Given the description of an element on the screen output the (x, y) to click on. 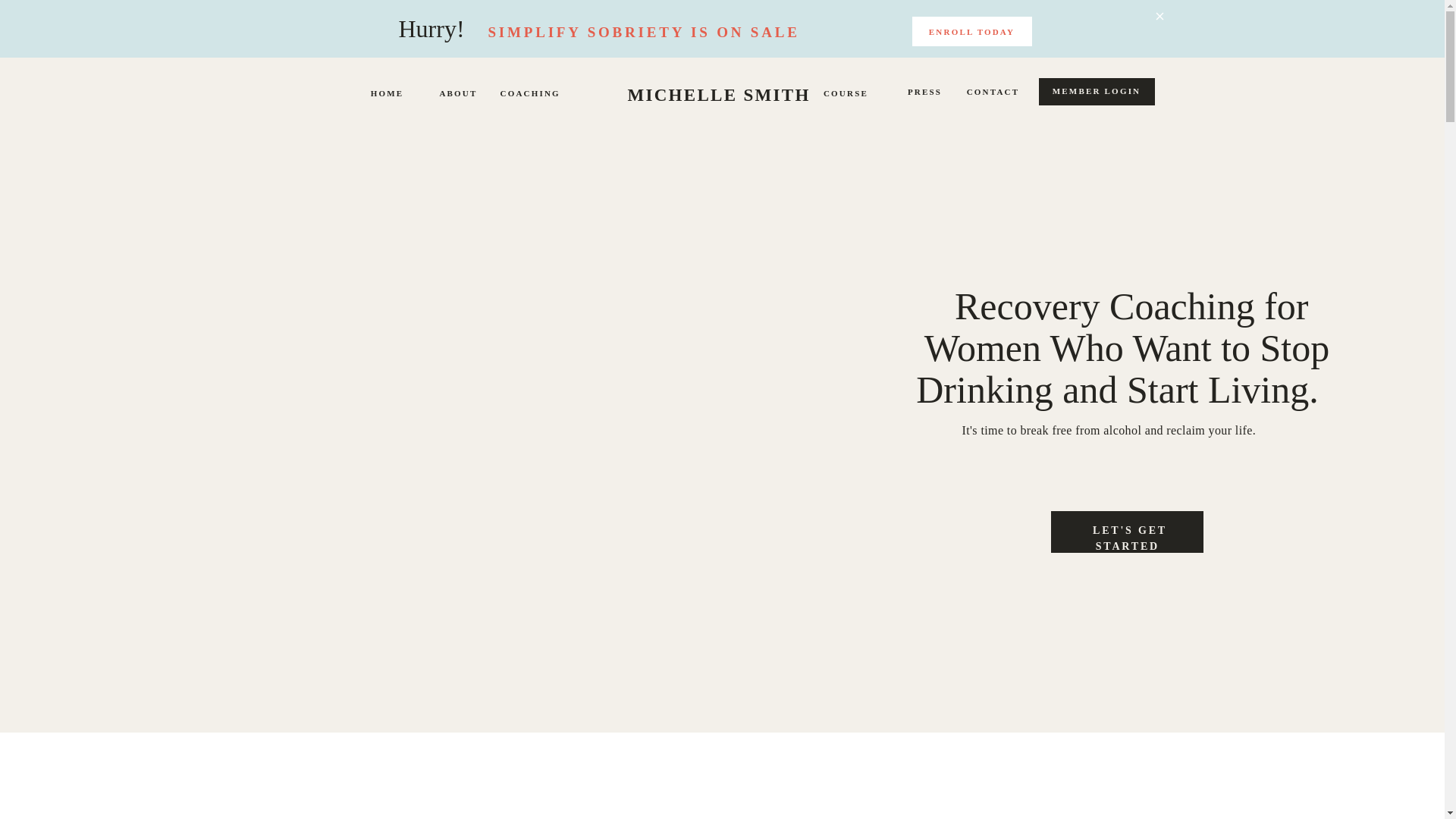
CONTACT (991, 94)
ABOUT (457, 95)
MICHELLE SMITH (718, 94)
ENROLL TODAY (970, 30)
HOME (386, 95)
LET'S GET STARTED  (1130, 531)
MEMBER LOGIN (1096, 93)
COACHING (525, 95)
COURSE (845, 95)
PRESS (924, 94)
